Given the description of an element on the screen output the (x, y) to click on. 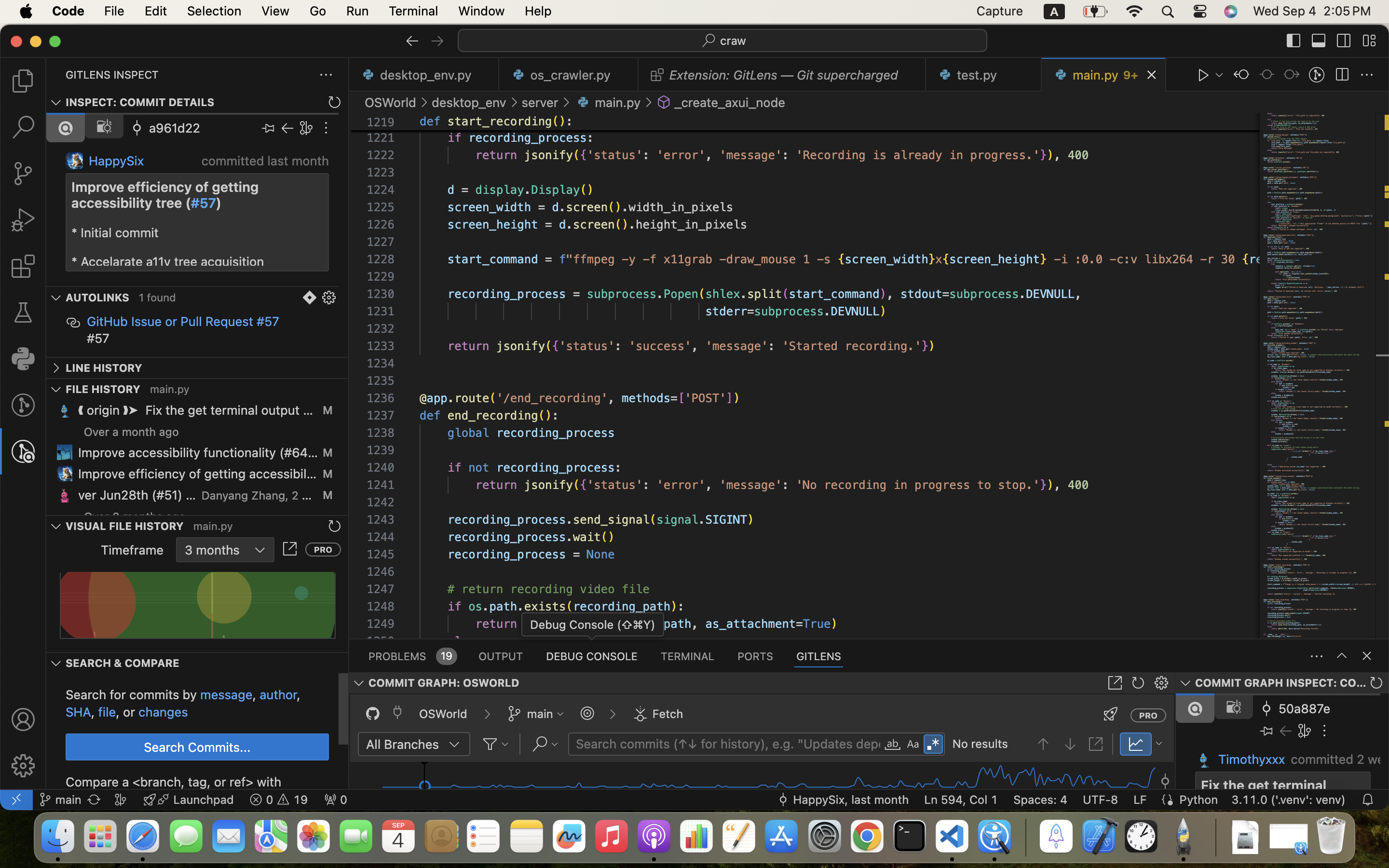
 Element type: AXStaticText (65, 127)
 Element type: AXCheckBox (1344, 40)
